Given the description of an element on the screen output the (x, y) to click on. 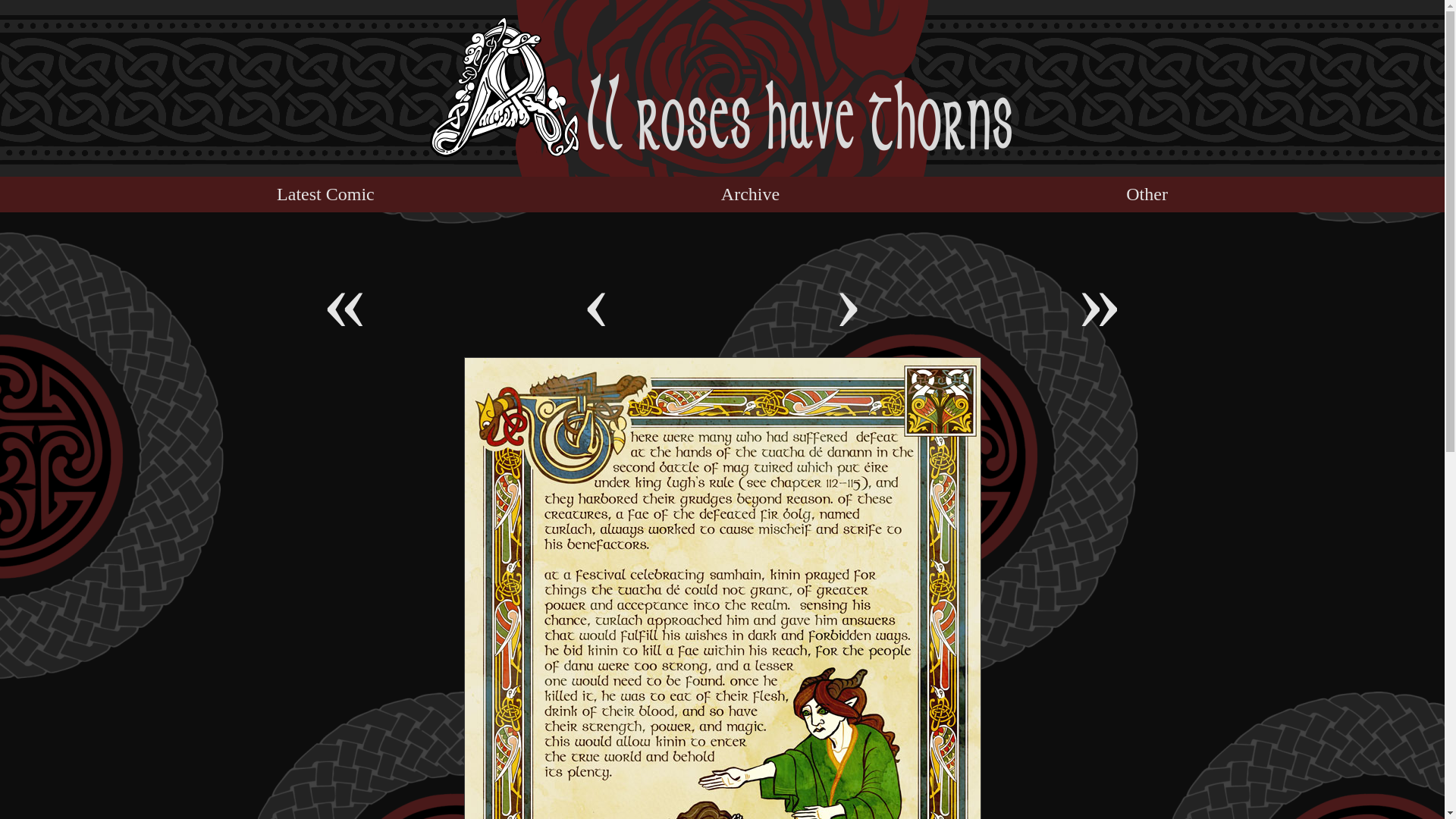
Other (1146, 193)
Latest Comic (325, 193)
Archive (749, 193)
